Given the description of an element on the screen output the (x, y) to click on. 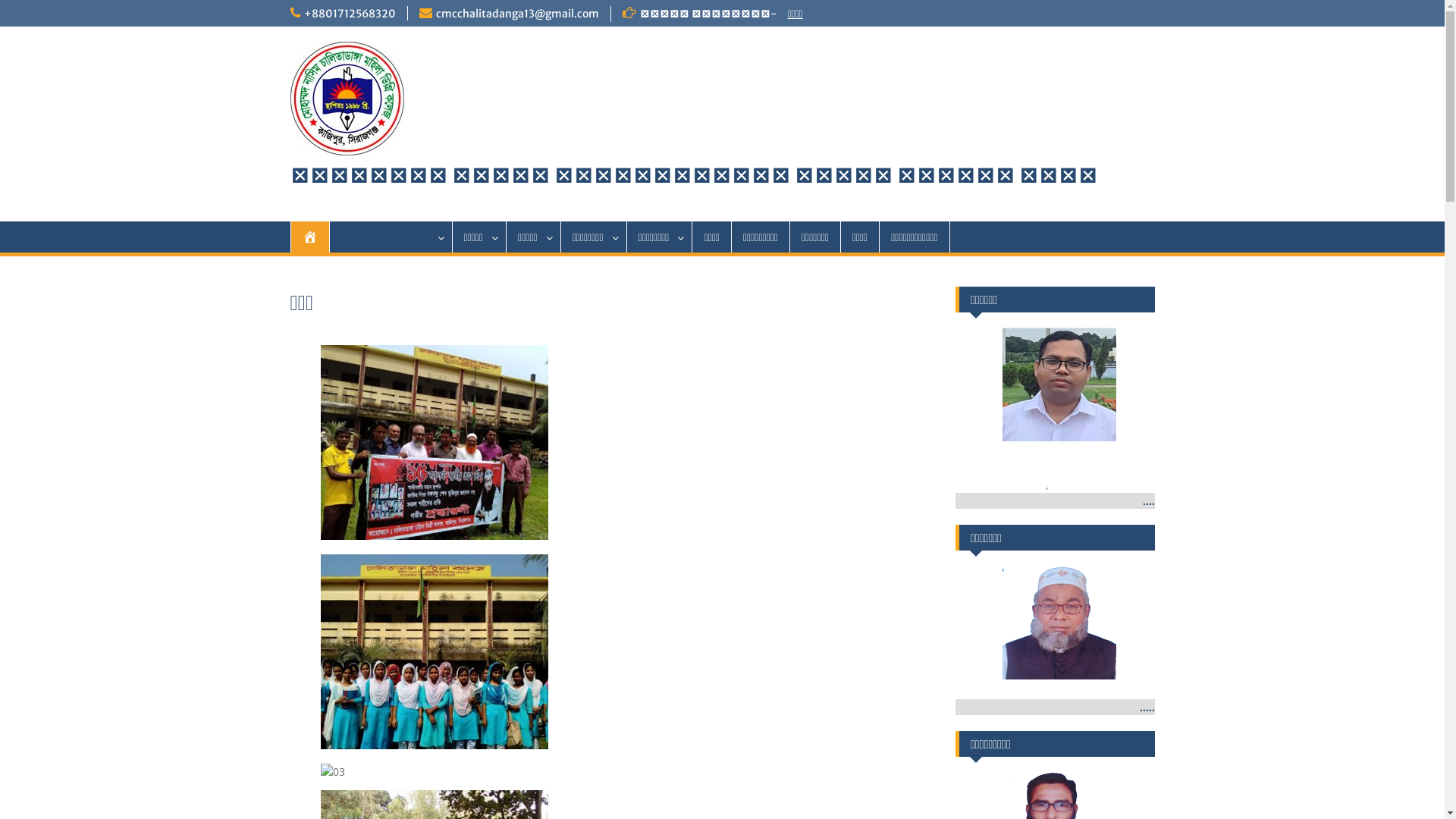
+8801712568320 Element type: text (349, 13)
cmcchalitadanga13@gmail.com Element type: text (516, 13)
